Given the description of an element on the screen output the (x, y) to click on. 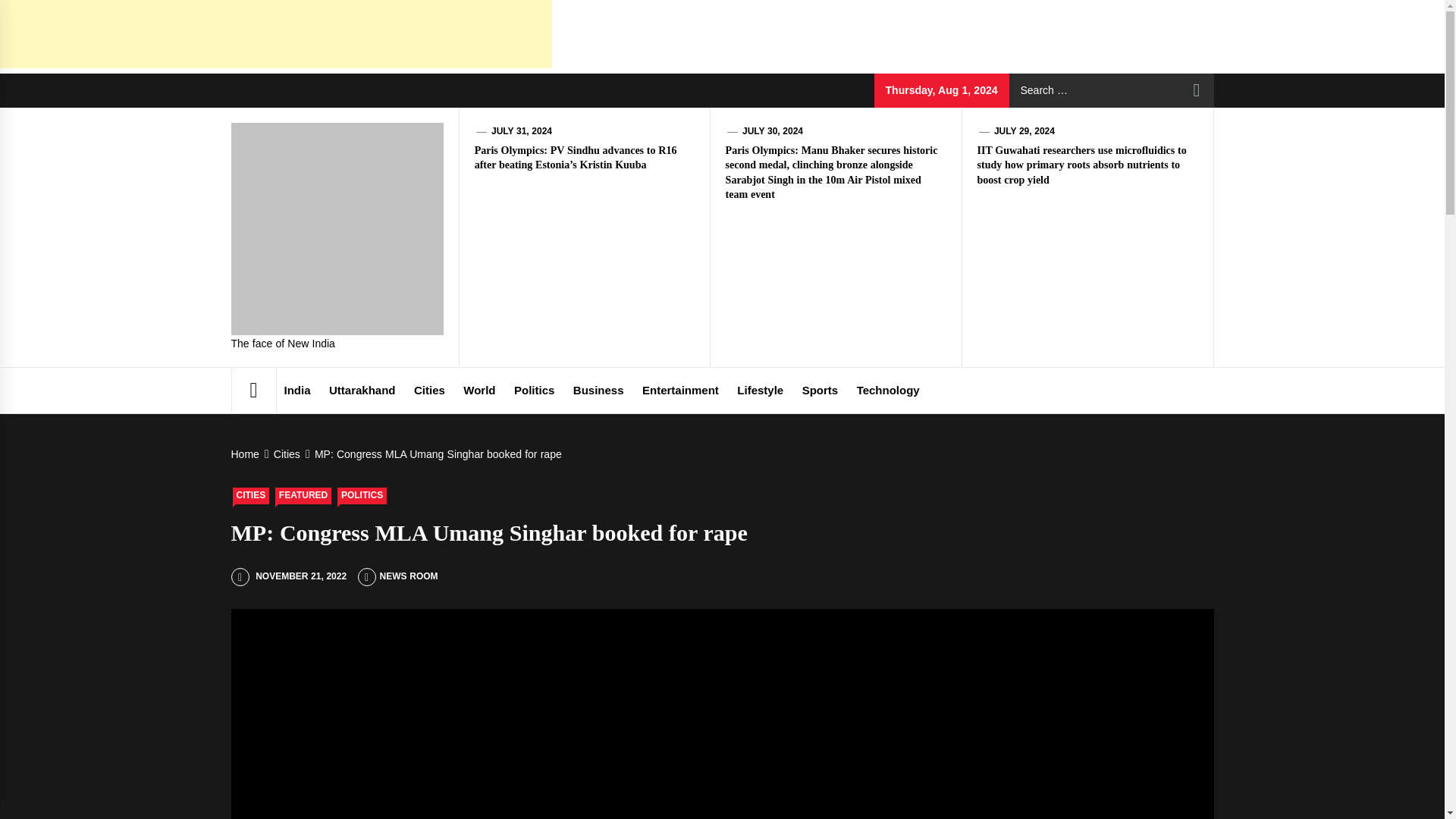
Politics (534, 390)
Lifestyle (759, 390)
Cities (429, 390)
Home (246, 453)
Cities (284, 453)
Uttarakhand (362, 390)
Sports (819, 390)
India (296, 390)
Search (1196, 90)
JULY 31, 2024 (521, 131)
India Maximum (515, 160)
MP: Congress MLA Umang Singhar booked for rape (436, 453)
FEATURED (303, 495)
Search (1196, 90)
CITIES (250, 495)
